Given the description of an element on the screen output the (x, y) to click on. 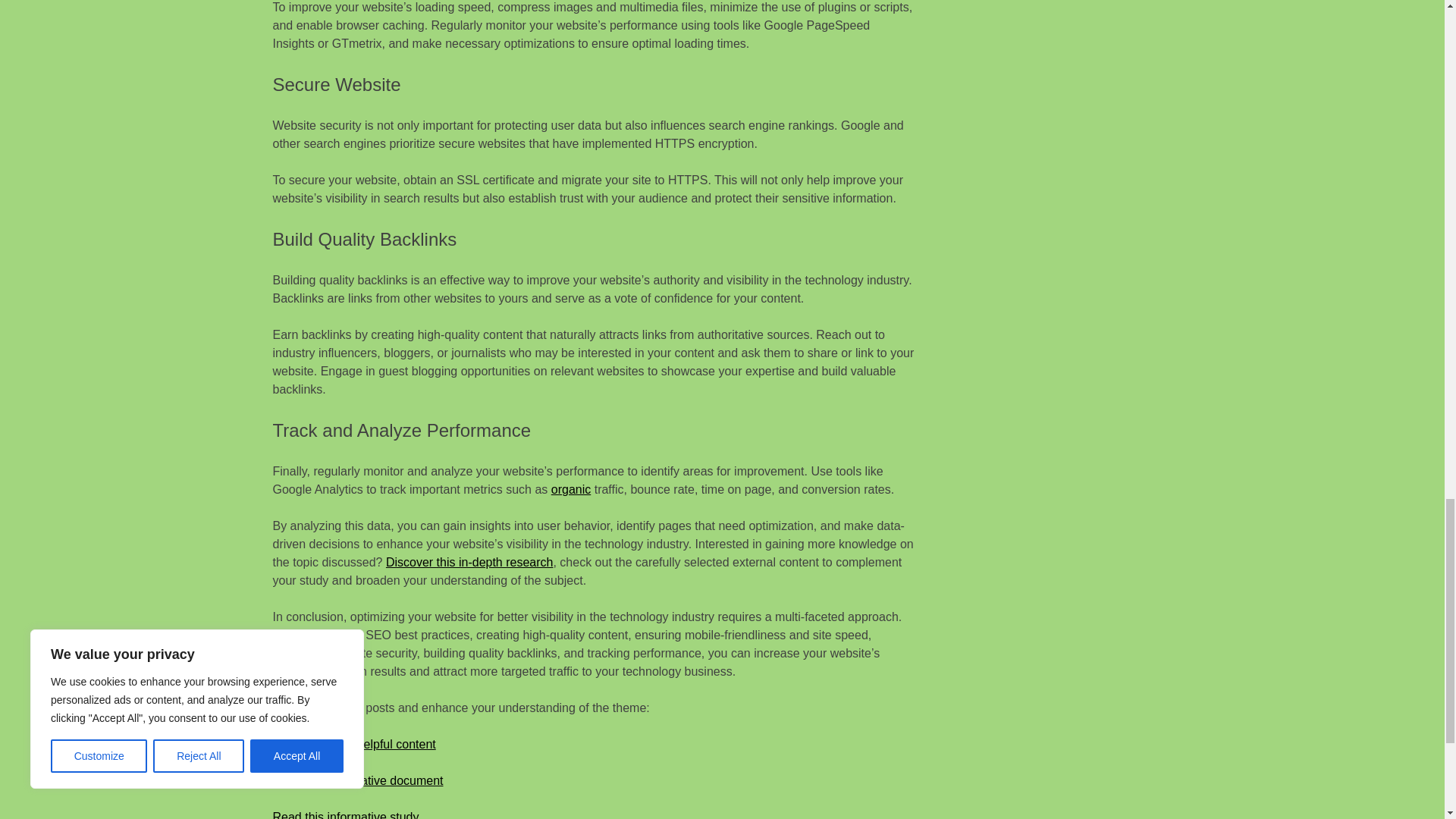
Read this informative study (346, 814)
Discover this in-depth research (469, 562)
Learn from this helpful content (354, 744)
Read this informative document (358, 780)
organic (571, 489)
